Given the description of an element on the screen output the (x, y) to click on. 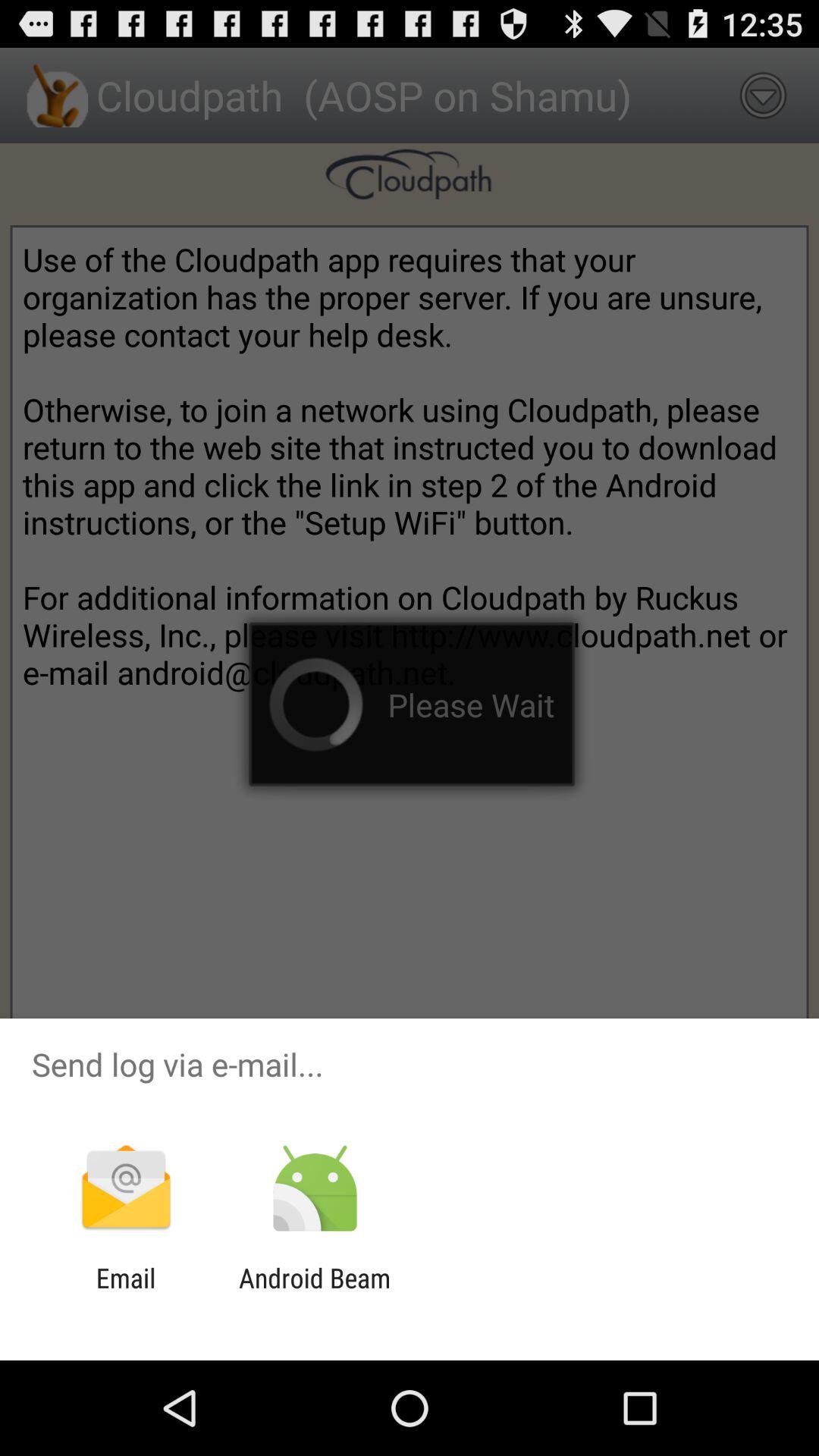
click email (125, 1293)
